Given the description of an element on the screen output the (x, y) to click on. 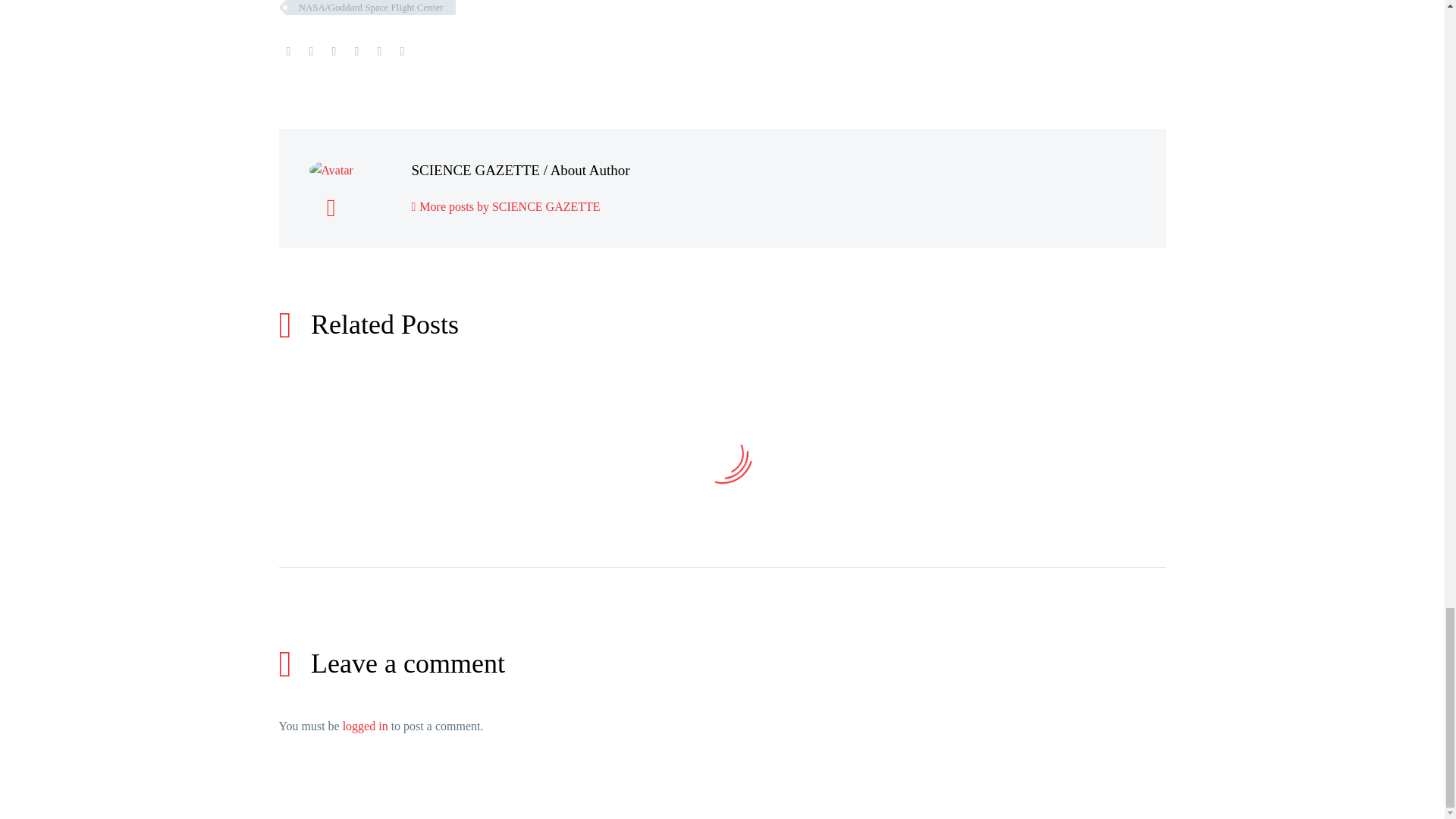
LinkedIn (378, 51)
Reddit (401, 51)
Tumblr (356, 51)
logged in (365, 725)
More posts by SCIENCE GAZETTE (504, 205)
Facebook (288, 51)
Pinterest (333, 51)
Twitter (310, 51)
